Given the description of an element on the screen output the (x, y) to click on. 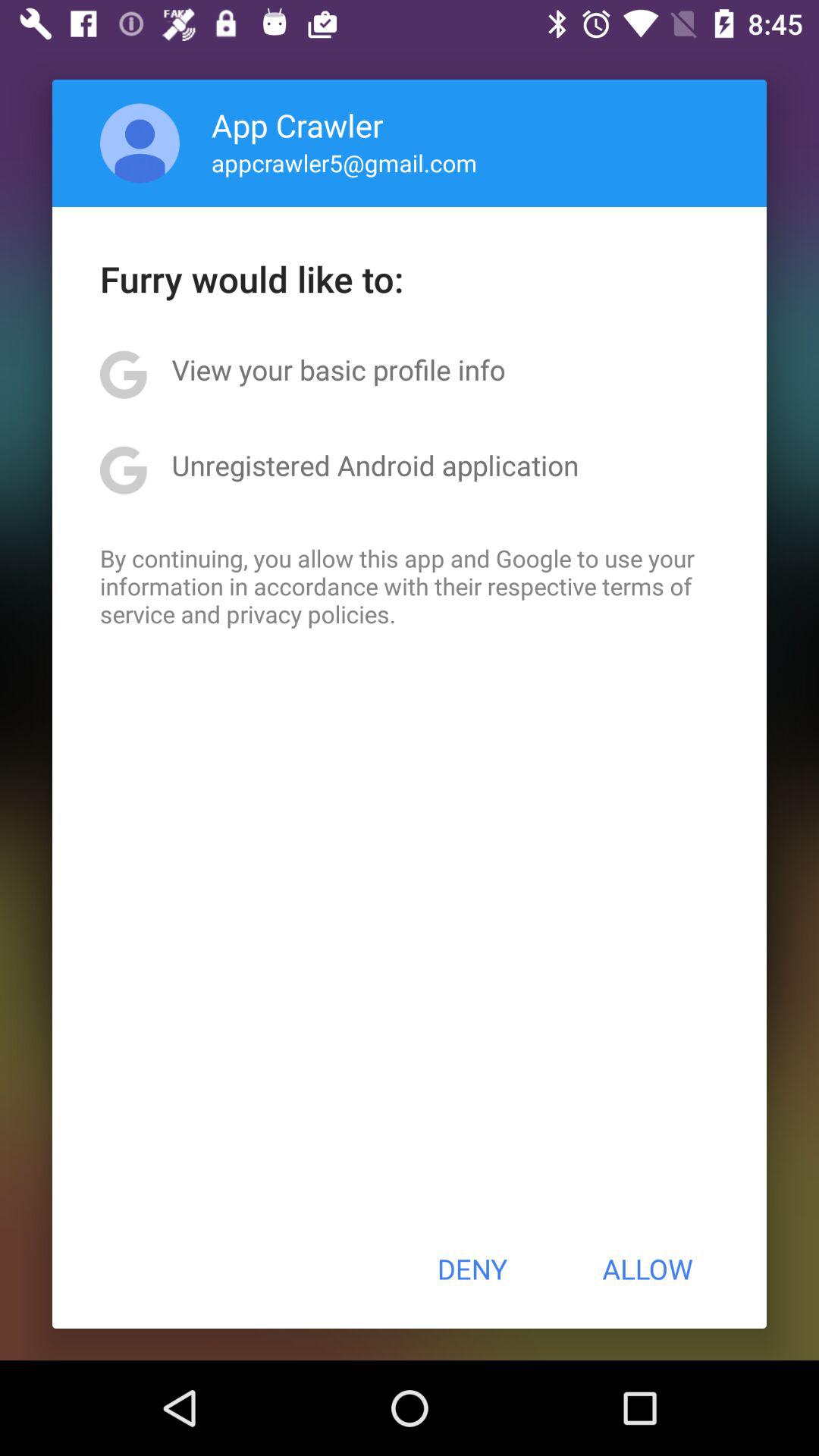
click the item at the bottom (471, 1268)
